Given the description of an element on the screen output the (x, y) to click on. 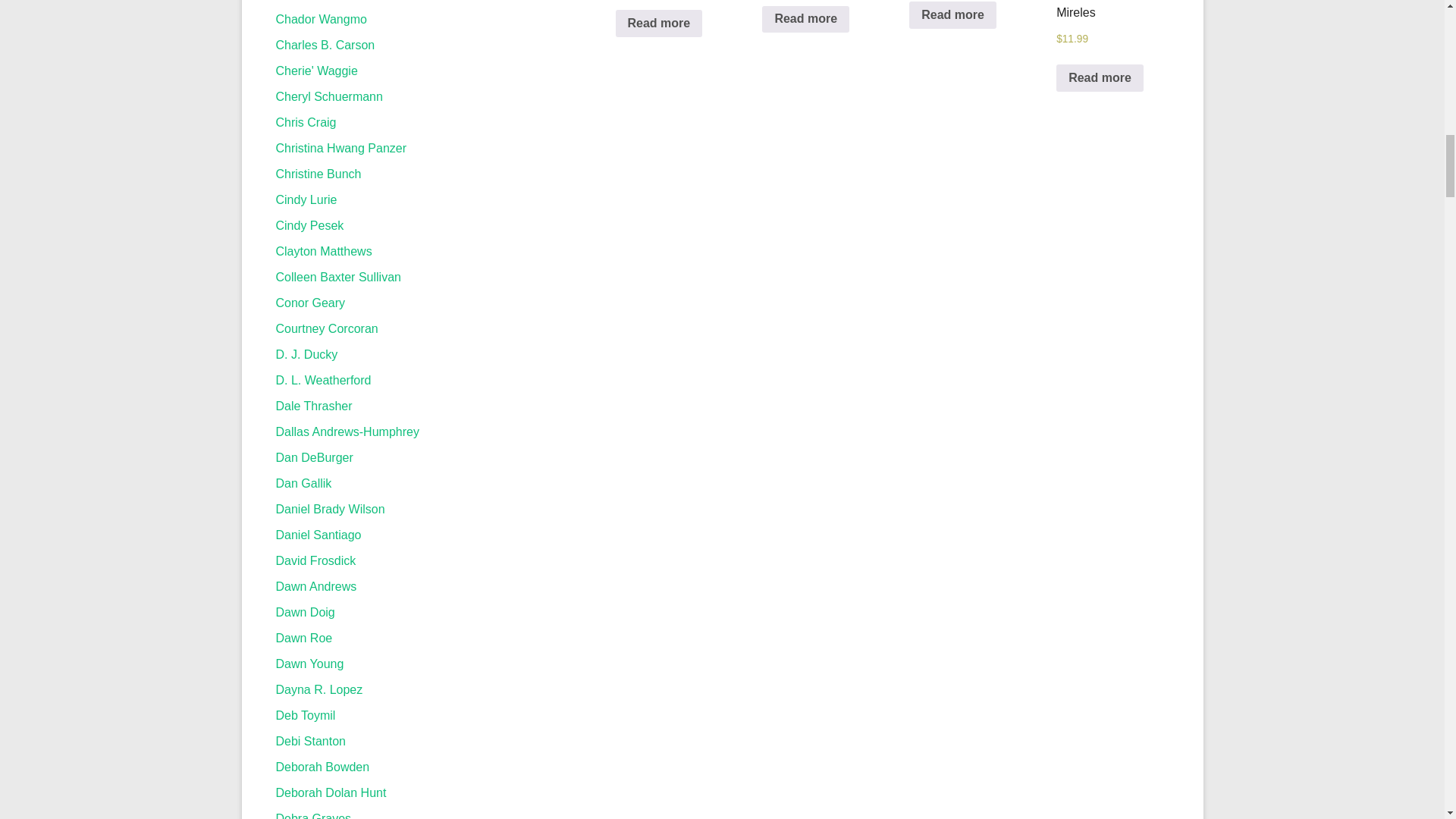
Read more (1099, 77)
Read more (951, 14)
Read more (804, 19)
Read more (659, 22)
